Given the description of an element on the screen output the (x, y) to click on. 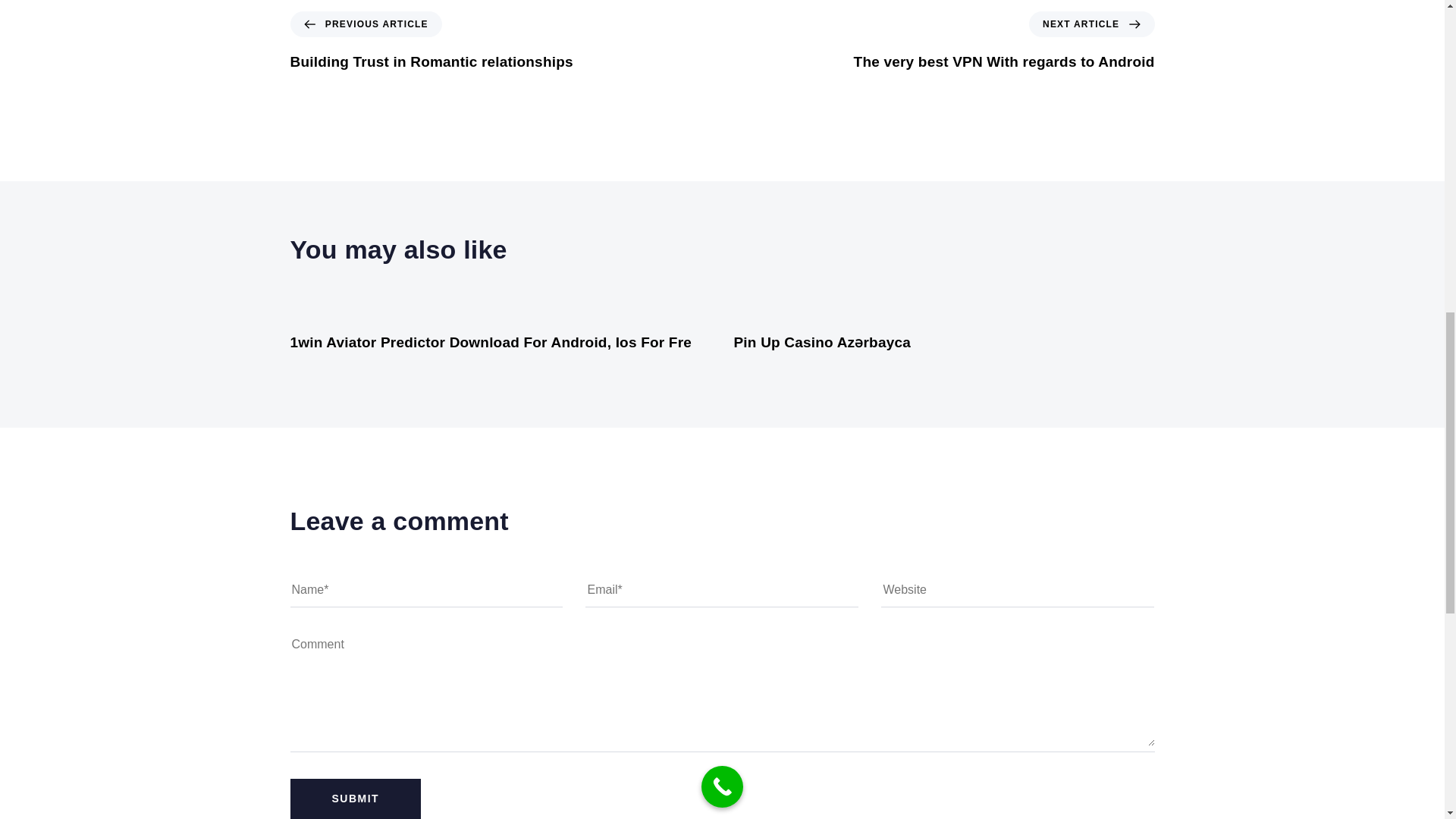
Submit (1003, 41)
Submit (354, 798)
1win Aviator Predictor Download For Android, Ios For Fre (354, 798)
